Given the description of an element on the screen output the (x, y) to click on. 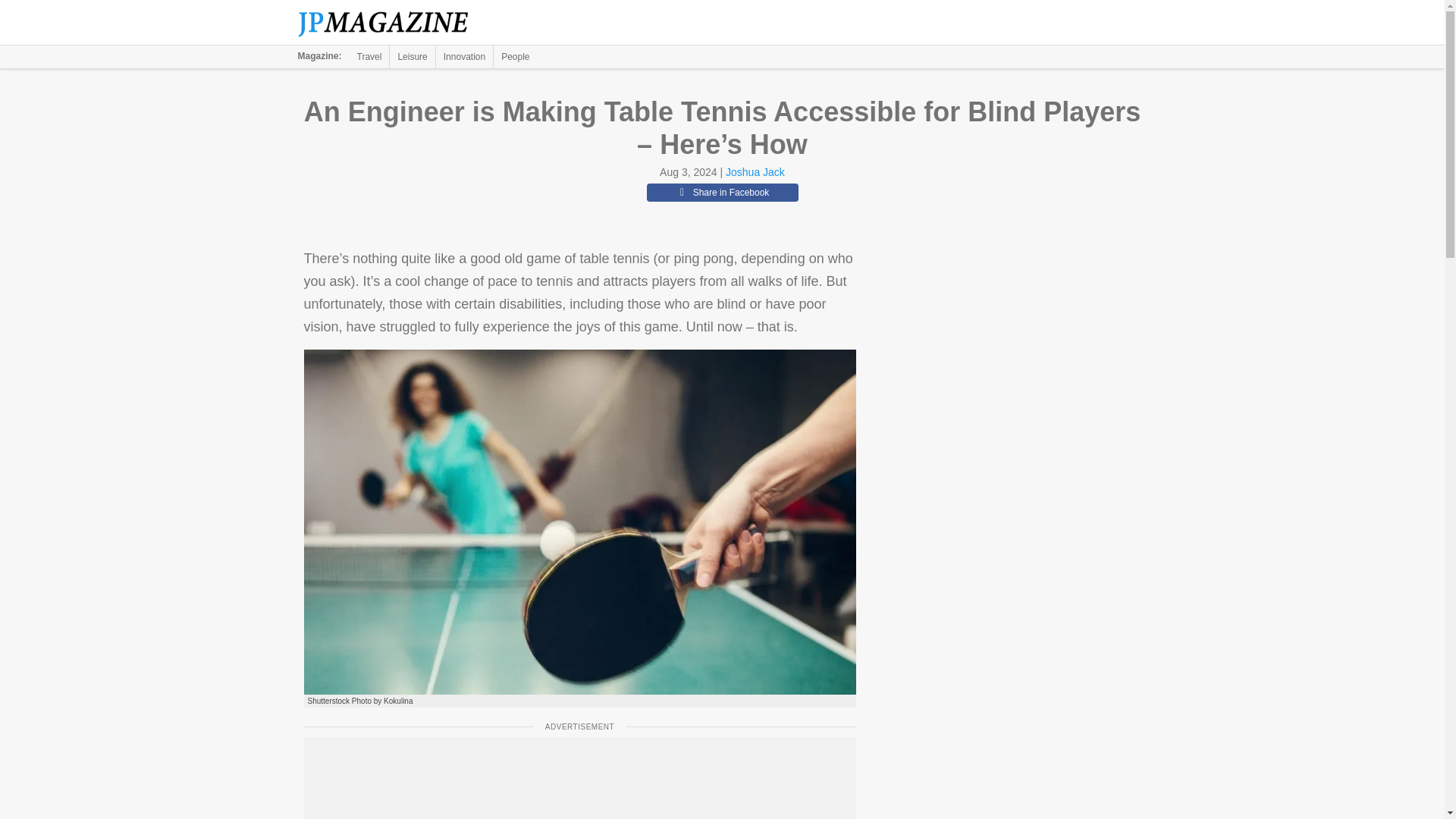
Joshua Jack (754, 172)
The Jerusalem Post Magazine (391, 22)
Leisure (411, 56)
Share in Facebook (721, 192)
Travel (369, 56)
Innovation (464, 56)
People (515, 56)
